Given the description of an element on the screen output the (x, y) to click on. 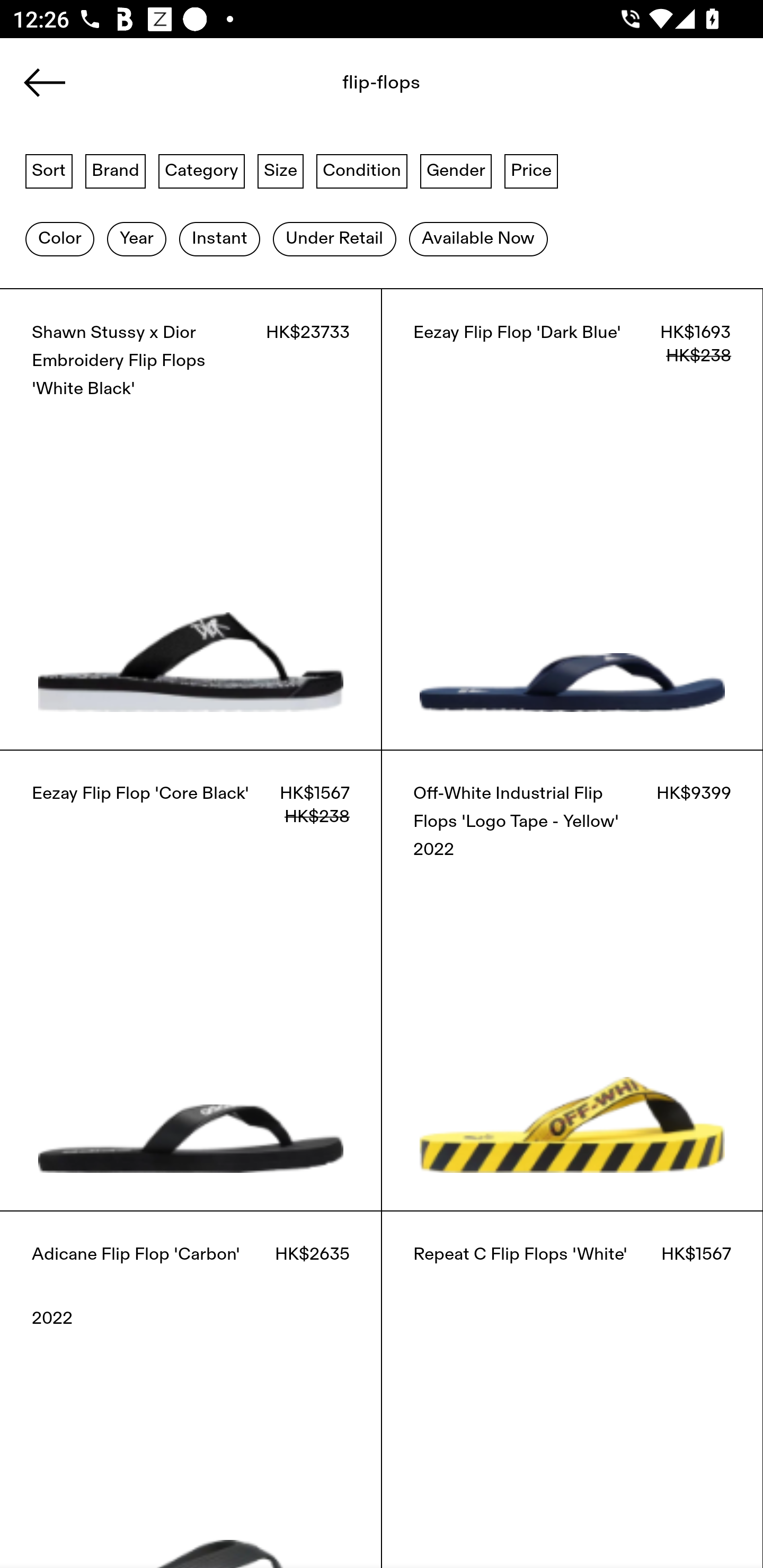
Search (340, 88)
Air Jordan 5 Retro 'Olive' 2024  (153, 168)
Sort (48, 170)
Brand (115, 170)
Category (201, 170)
Size (280, 170)
Condition (361, 170)
Gender (455, 170)
Price (530, 170)
Color (59, 239)
Year (136, 239)
Instant (219, 239)
Under Retail (334, 239)
Available Now (477, 239)
Eezay Flip Flop 'Dark Blue' HK$1693 HK$238 (572, 518)
Eezay Flip Flop 'Core Black' HK$1567 HK$238 (190, 979)
Adicane Flip Flop 'Carbon' HK$2635 2022 (190, 1389)
Repeat C Flip Flops 'White' HK$1567 (572, 1389)
